Given the description of an element on the screen output the (x, y) to click on. 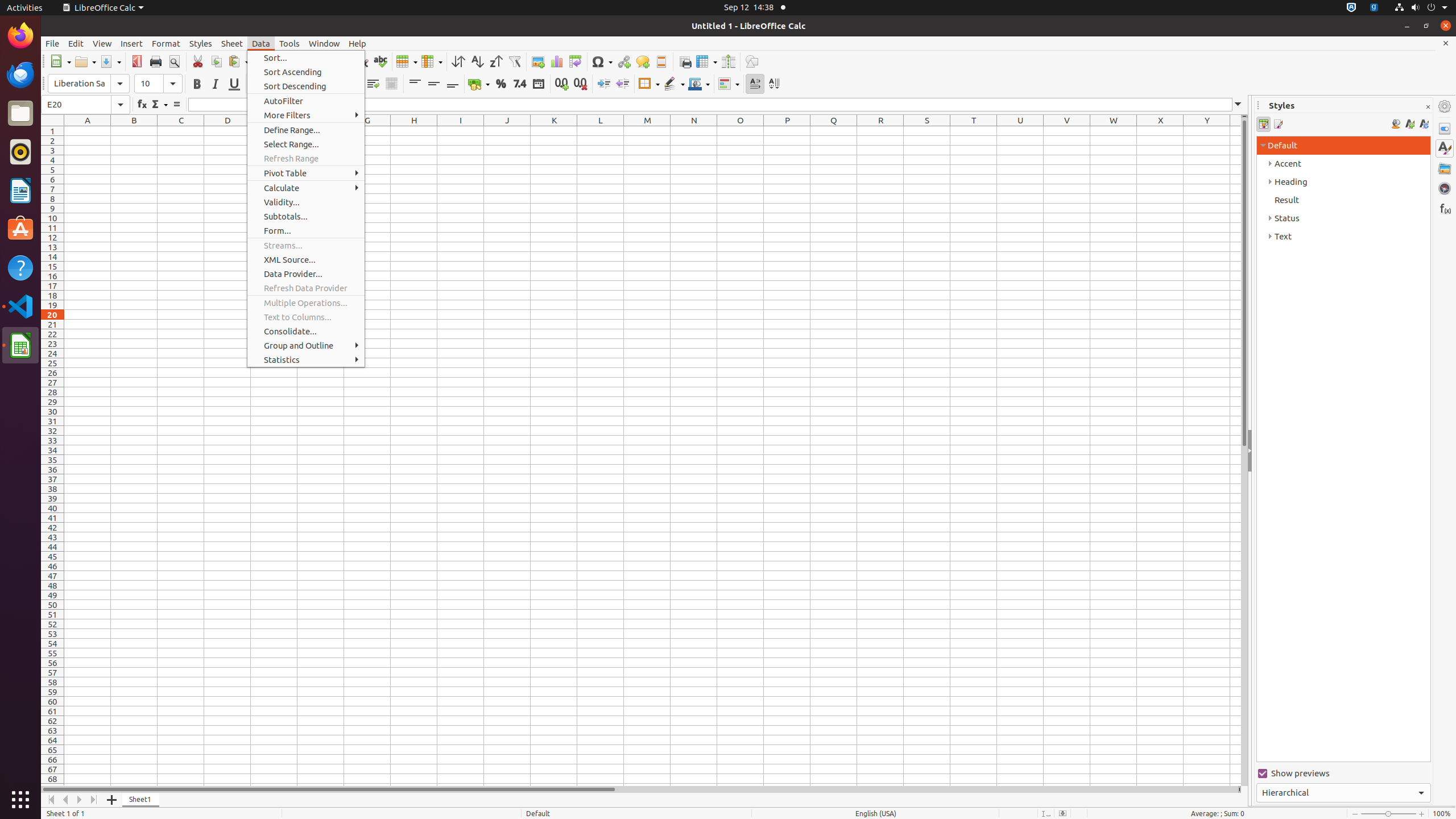
Consolidate... Element type: menu-item (305, 331)
Conditional Element type: push-button (728, 83)
Ubuntu Software Element type: push-button (20, 229)
Borders (Shift to overwrite) Element type: push-button (648, 83)
Format Element type: menu (165, 43)
